Given the description of an element on the screen output the (x, y) to click on. 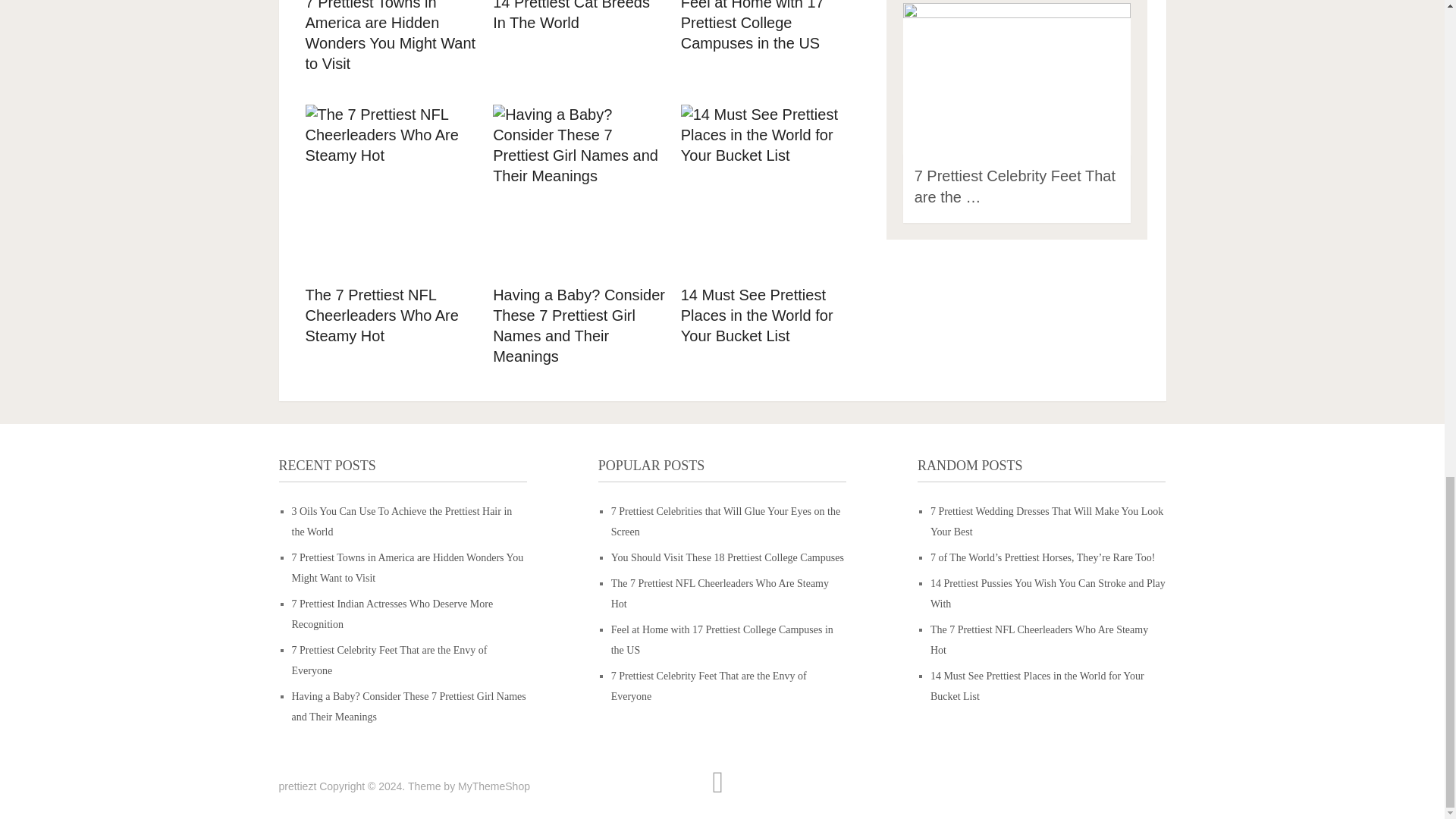
Feel at Home with 17 Prettiest College Campuses in the US (767, 27)
14 Prettiest Cat Breeds In The World (579, 16)
